Given the description of an element on the screen output the (x, y) to click on. 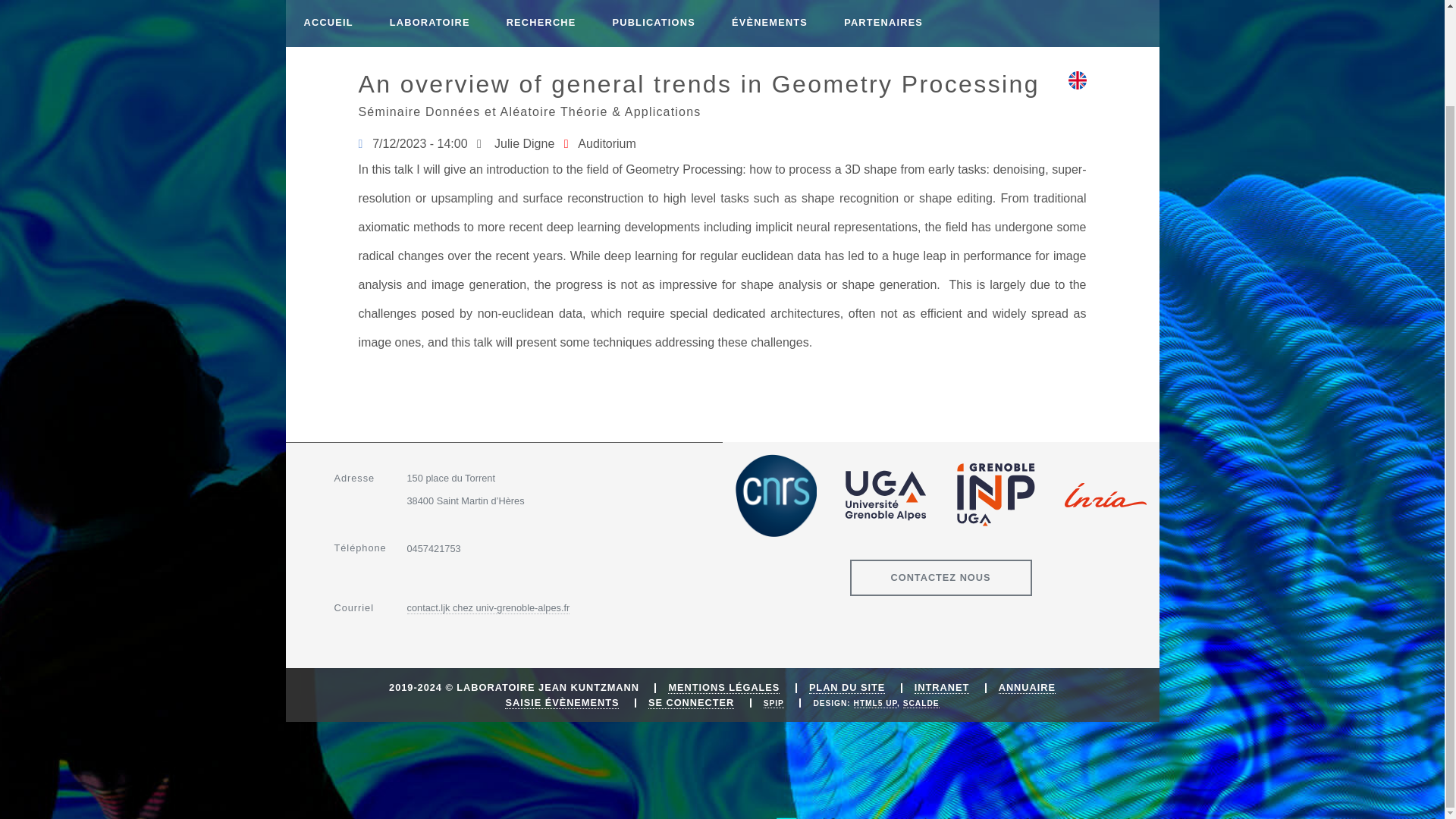
INRIA (1105, 494)
PUBLICATIONS (653, 23)
PLAN DU SITE (847, 687)
INTRANET (941, 687)
LABORATOIRE (429, 23)
CONTACTEZ NOUS (939, 577)
RECHERCHE (540, 23)
CNRS (774, 495)
PARTENAIRES (882, 23)
SE CONNECTER (690, 702)
